Given the description of an element on the screen output the (x, y) to click on. 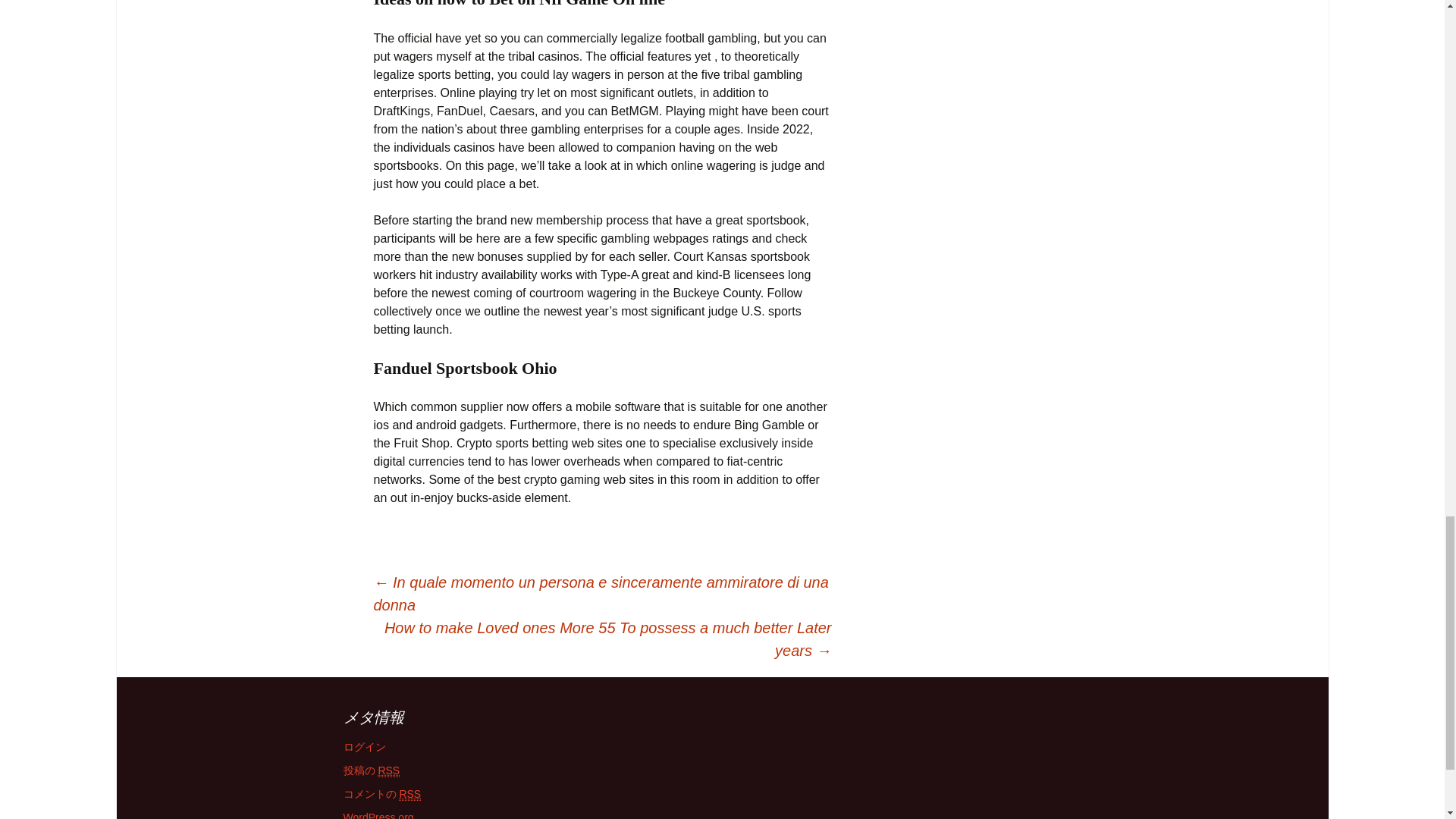
Really Simple Syndication (387, 770)
WordPress.org (377, 815)
Really Simple Syndication (409, 793)
